Given the description of an element on the screen output the (x, y) to click on. 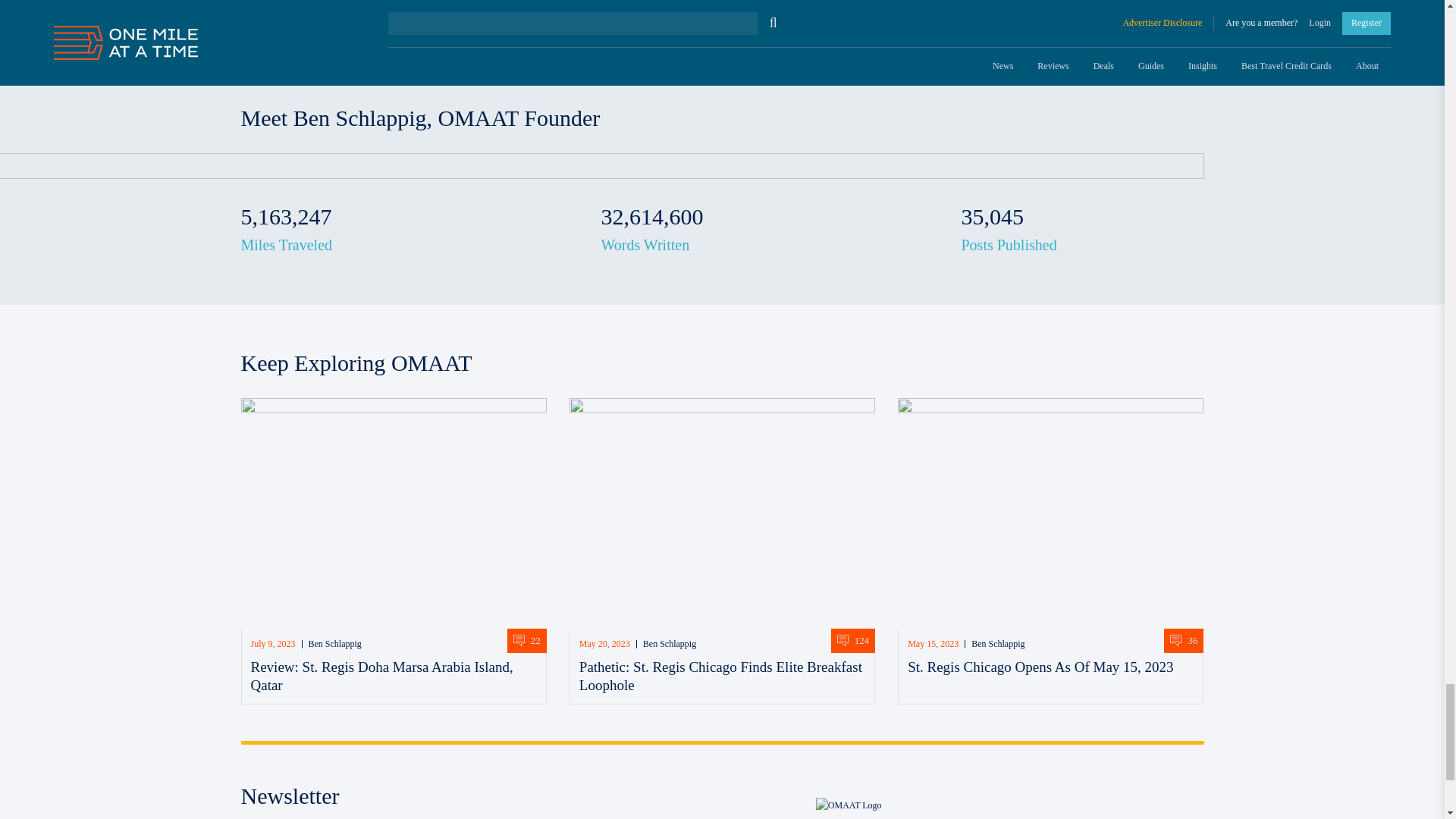
St. Regis Chicago Opens As Of May 15, 2023 (1051, 513)
Review: St. Regis Doha Marsa Arabia Island, Qatar (394, 513)
Pathetic: St. Regis Chicago Finds Elite Breakfast Loophole (722, 513)
St. Regis Chicago Opens As Of May 15, 2023 (1040, 666)
Review: St. Regis Doha Marsa Arabia Island, Qatar (381, 675)
Pathetic: St. Regis Chicago Finds Elite Breakfast Loophole (720, 675)
